Given the description of an element on the screen output the (x, y) to click on. 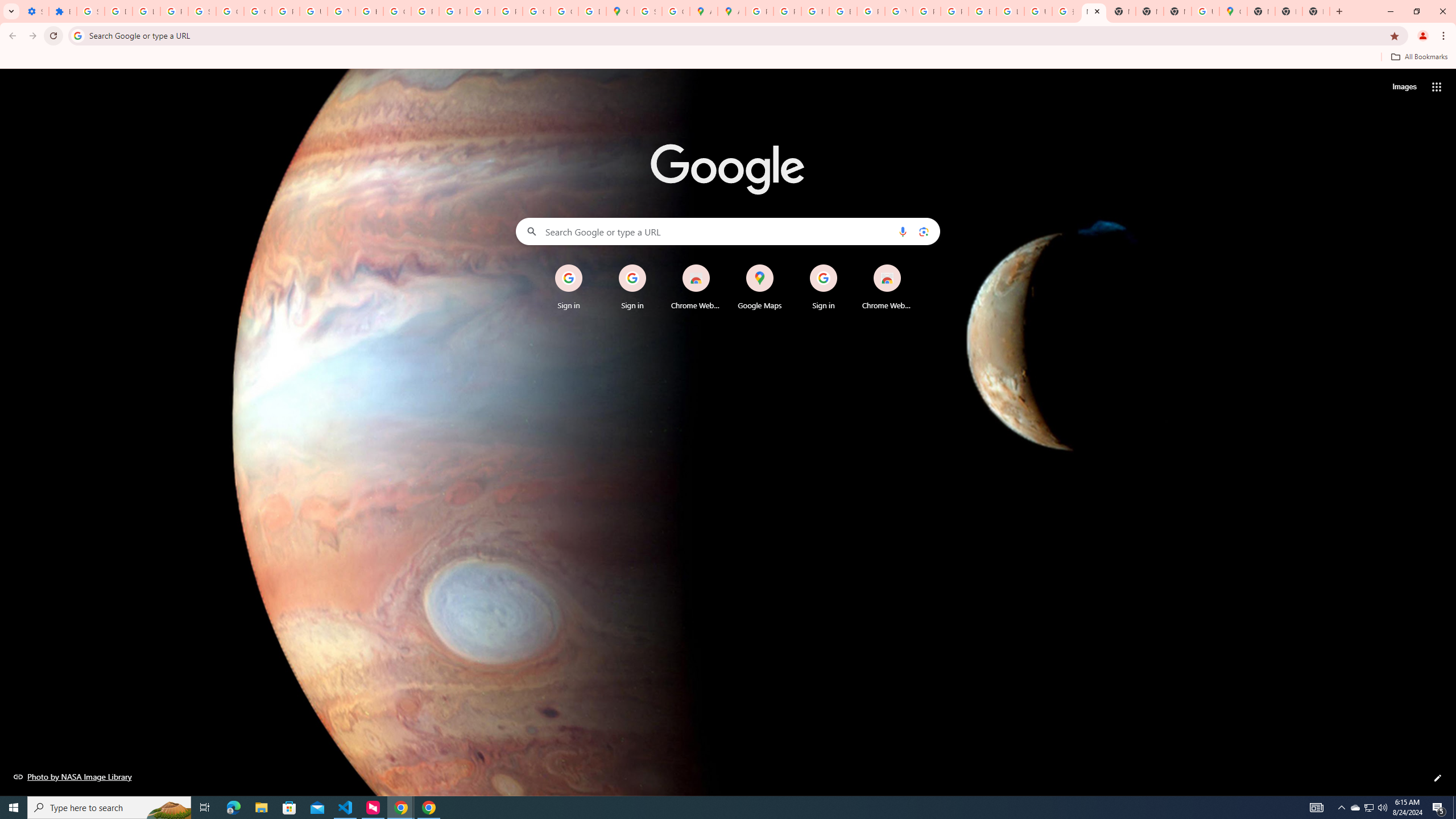
YouTube (898, 11)
Customize this page (1437, 778)
New Tab (1177, 11)
Policy Accountability and Transparency - Transparency Center (759, 11)
Google Maps (1233, 11)
New Tab (1288, 11)
Sign in - Google Accounts (202, 11)
